Given the description of an element on the screen output the (x, y) to click on. 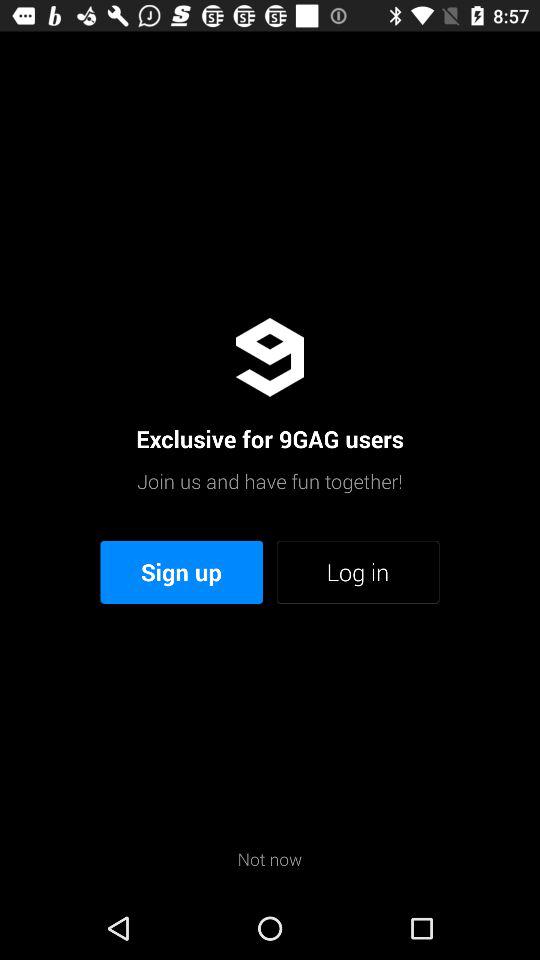
click icon to the right of sign up icon (357, 571)
